Given the description of an element on the screen output the (x, y) to click on. 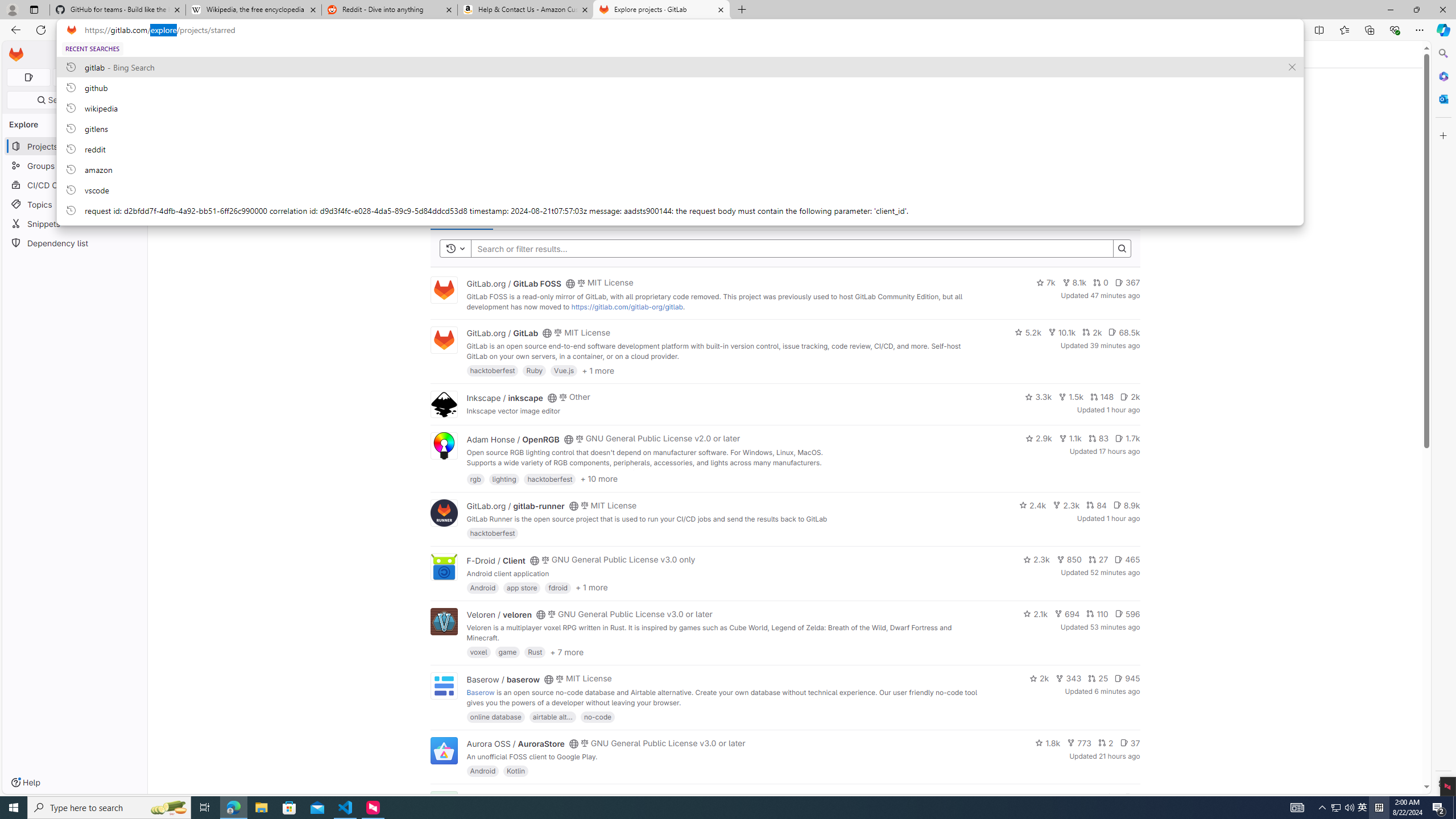
Snippets (74, 223)
vscode, recent searches from history (679, 189)
10.1k (1061, 331)
367 (1127, 282)
110 (1097, 613)
Explore/ (179, 53)
Kotlin (515, 770)
25 (1097, 678)
773 (1079, 742)
694 (1067, 613)
github, recent searches from history (679, 86)
Groups (74, 165)
wikipedia, recent searches from history (679, 107)
